Given the description of an element on the screen output the (x, y) to click on. 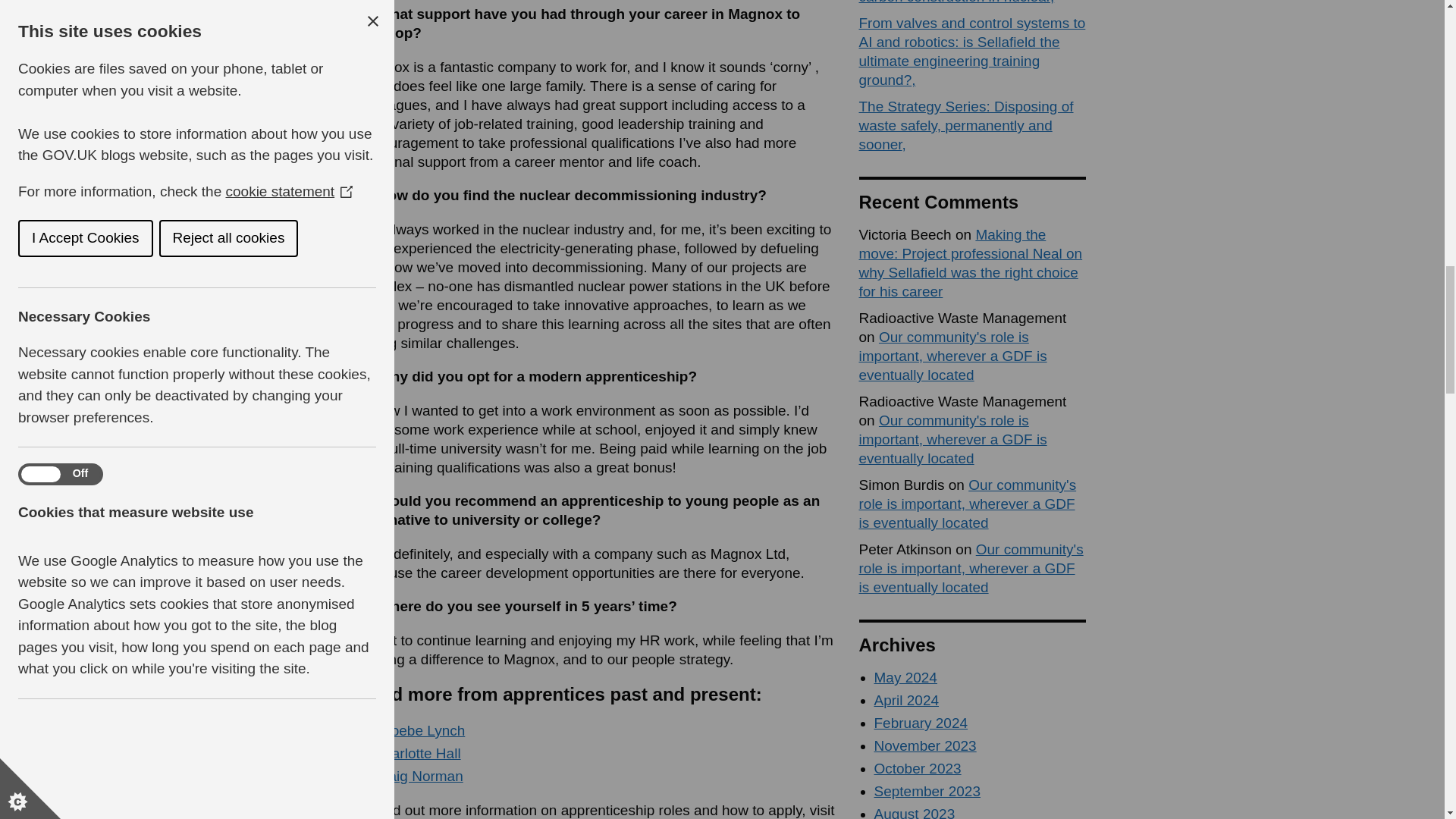
Charlotte Hall (416, 753)
Phoebe Lynch (418, 730)
Craig Norman (417, 775)
